Given the description of an element on the screen output the (x, y) to click on. 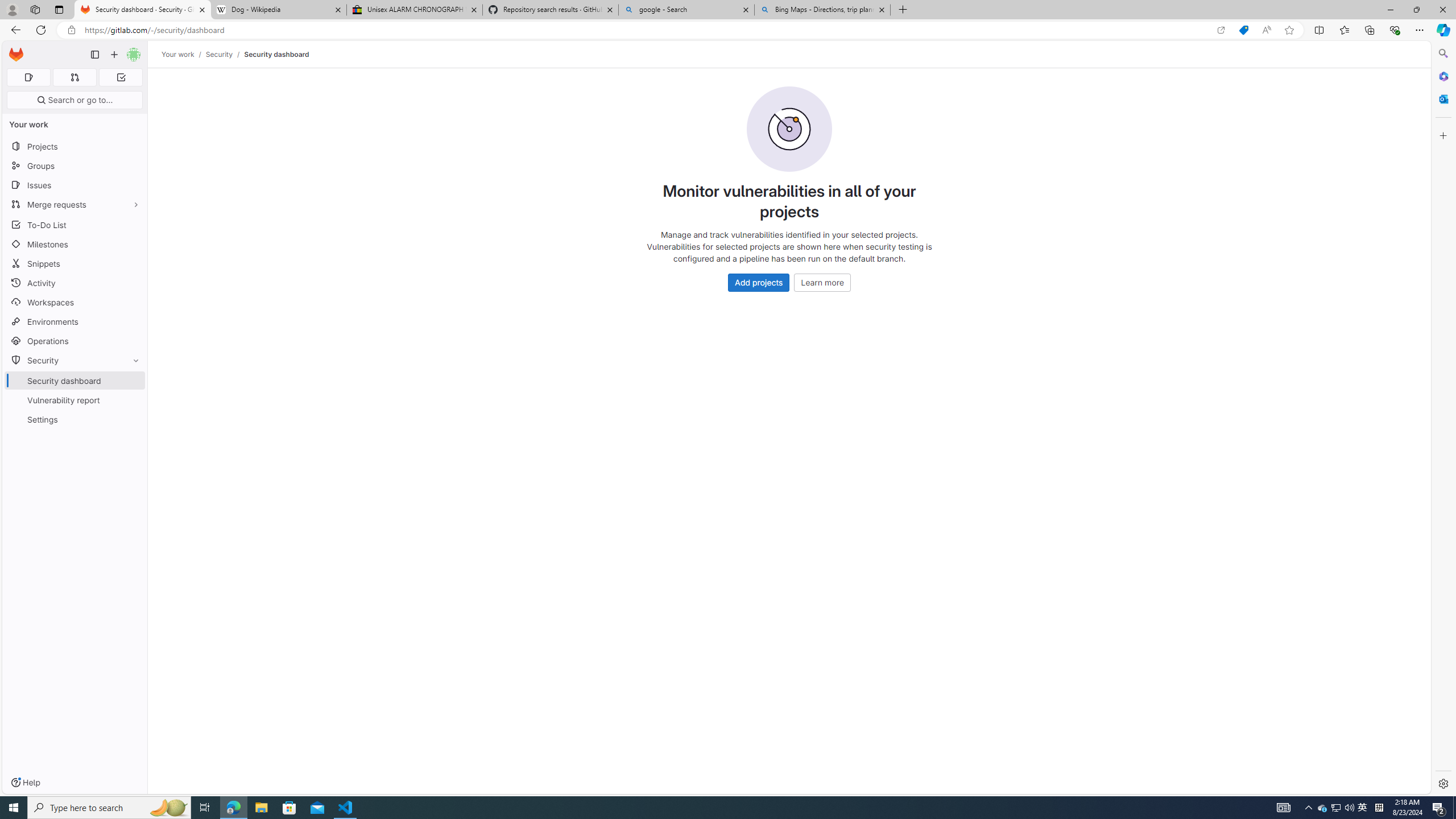
Your work/ (183, 53)
Security dashboard (276, 53)
Open in app (1220, 29)
Dog - Wikipedia (277, 9)
Groups (74, 165)
